Given the description of an element on the screen output the (x, y) to click on. 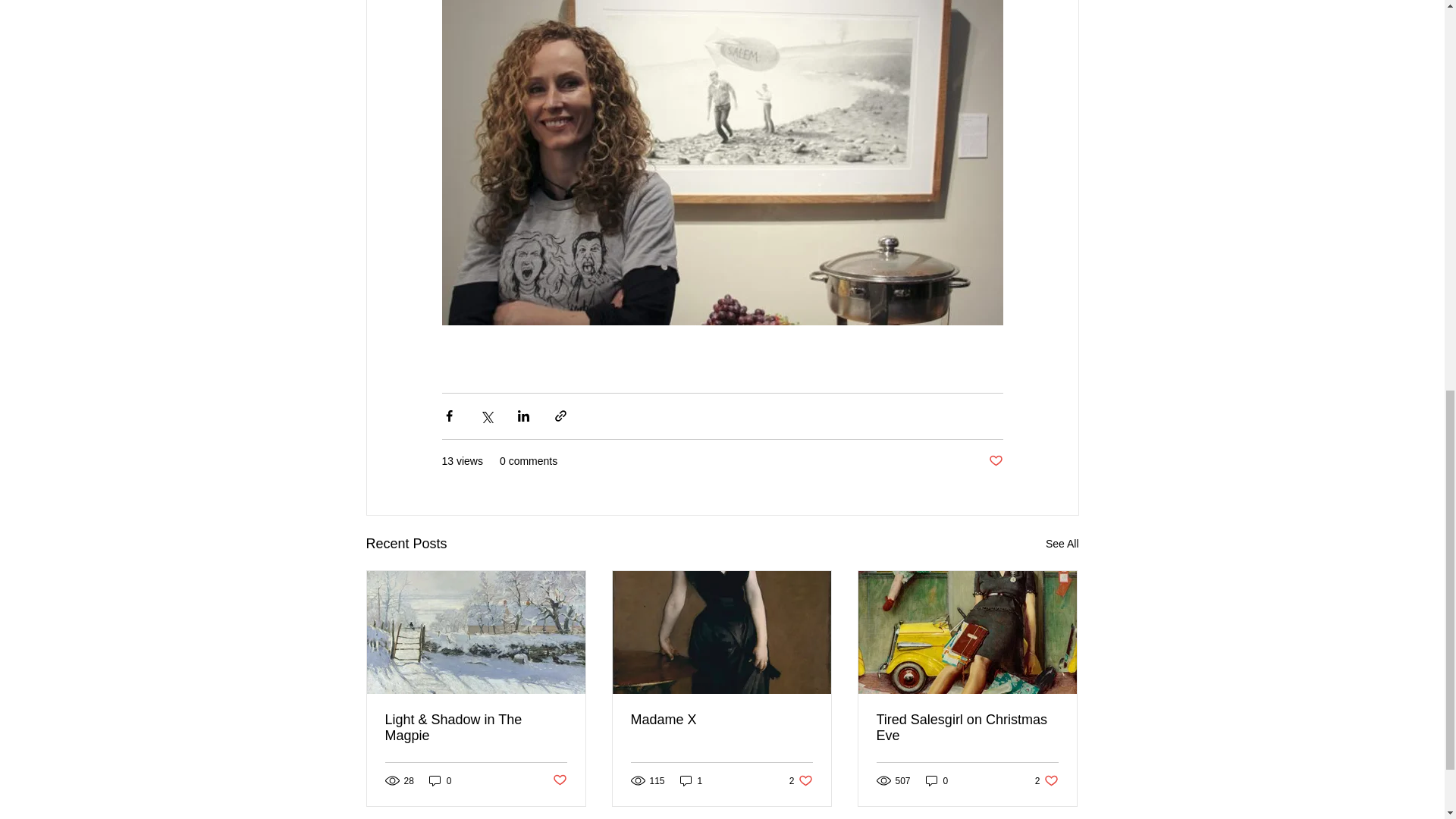
See All (1061, 544)
Madame X (721, 719)
0 (937, 780)
Tired Salesgirl on Christmas Eve (967, 727)
Post not marked as liked (1046, 780)
1 (558, 780)
Post not marked as liked (800, 780)
0 (691, 780)
